Given the description of an element on the screen output the (x, y) to click on. 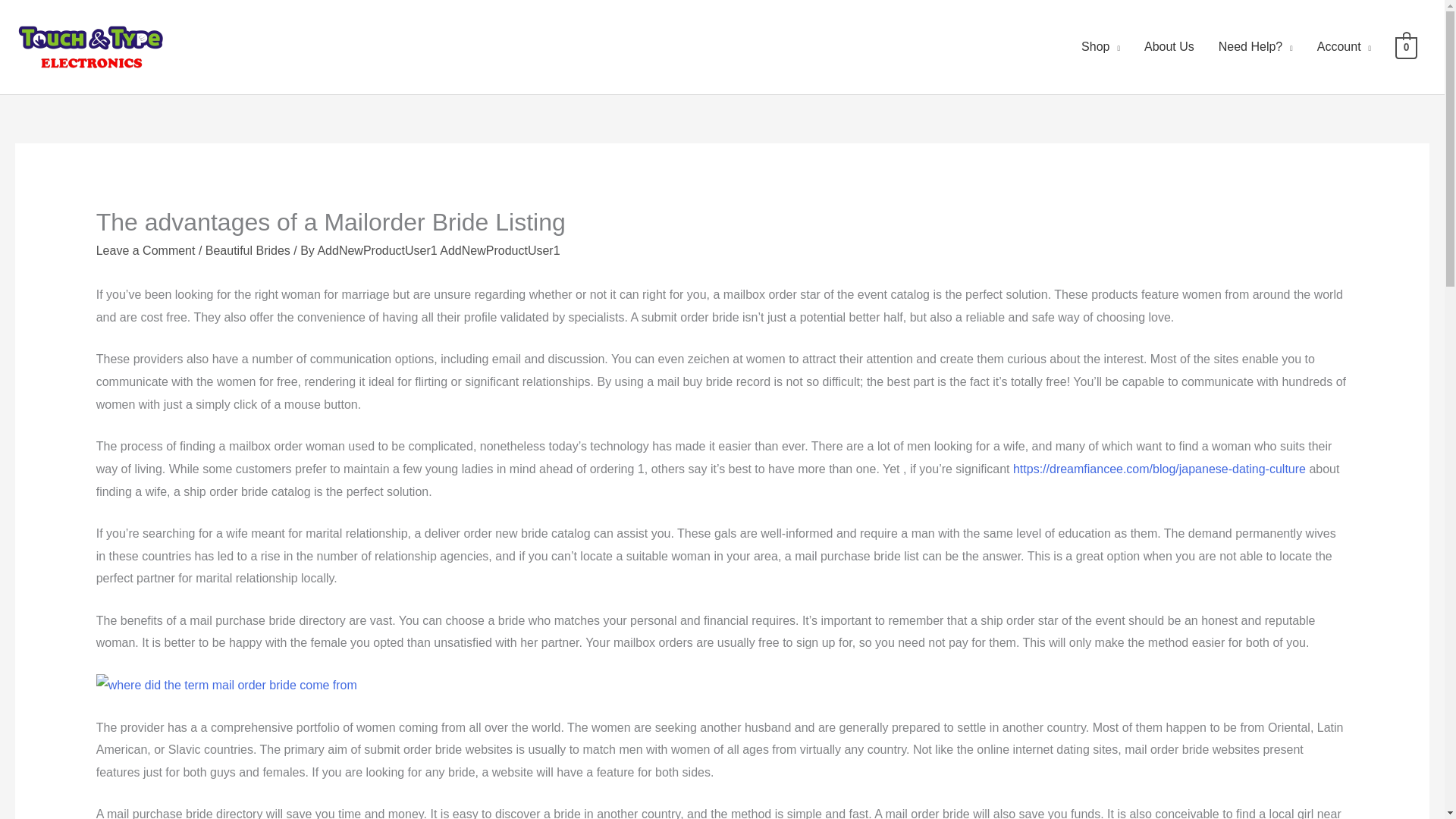
Need Help? (1255, 46)
About Us (1169, 46)
Shop (1100, 46)
0 (1405, 46)
Beautiful Brides (247, 250)
View all posts by AddNewProductUser1 AddNewProductUser1 (438, 250)
AddNewProductUser1 AddNewProductUser1 (438, 250)
Leave a Comment (145, 250)
Account (1343, 46)
